Given the description of an element on the screen output the (x, y) to click on. 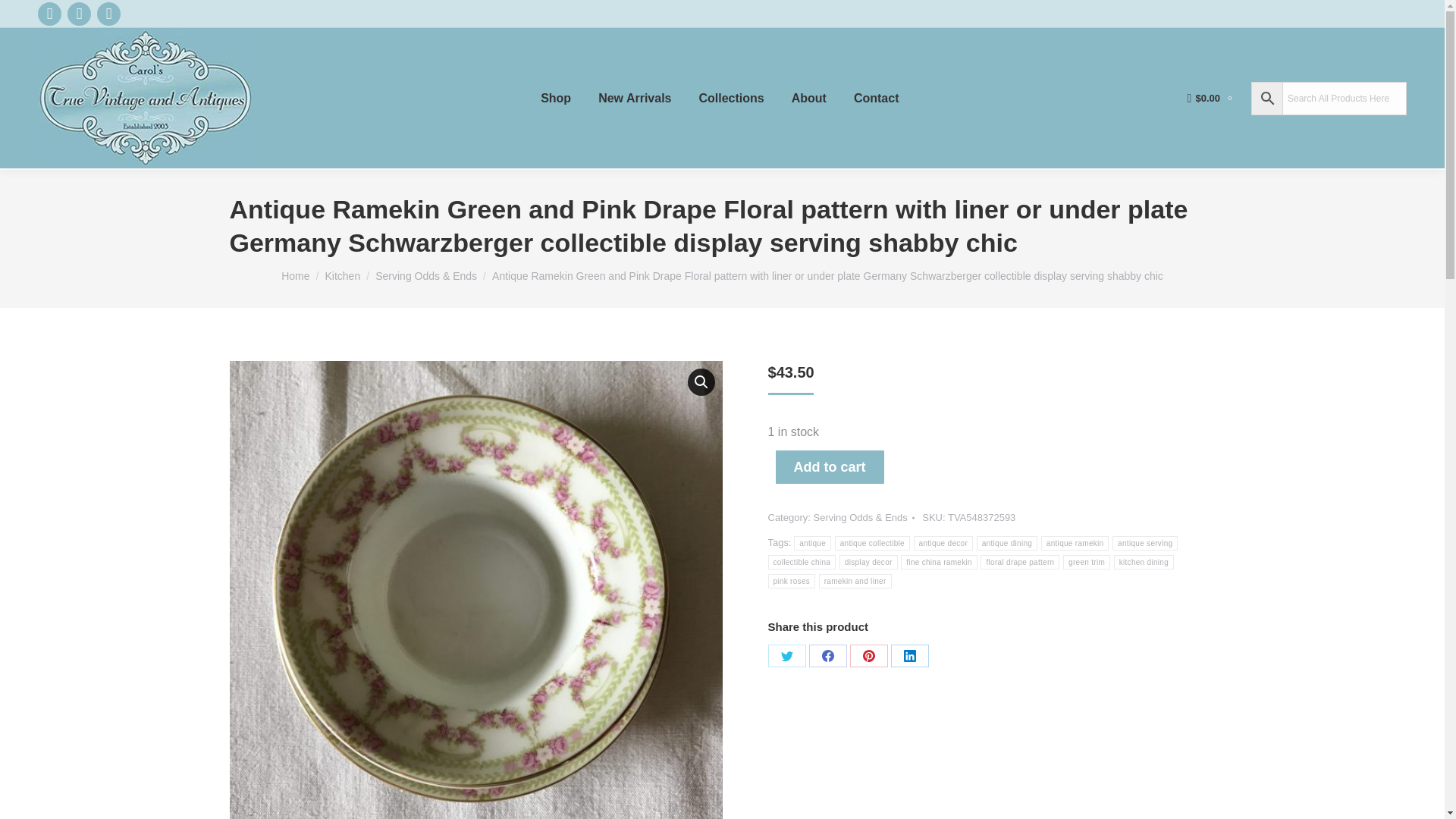
Collections (731, 97)
About (809, 97)
Twitter page opens in new window (78, 13)
Instagram page opens in new window (108, 13)
Kitchen (341, 275)
Facebook page opens in new window (49, 13)
Facebook page opens in new window (49, 13)
Home (294, 275)
New Arrivals (634, 97)
Shop (555, 97)
Instagram page opens in new window (108, 13)
Twitter page opens in new window (78, 13)
Contact (876, 97)
